Given the description of an element on the screen output the (x, y) to click on. 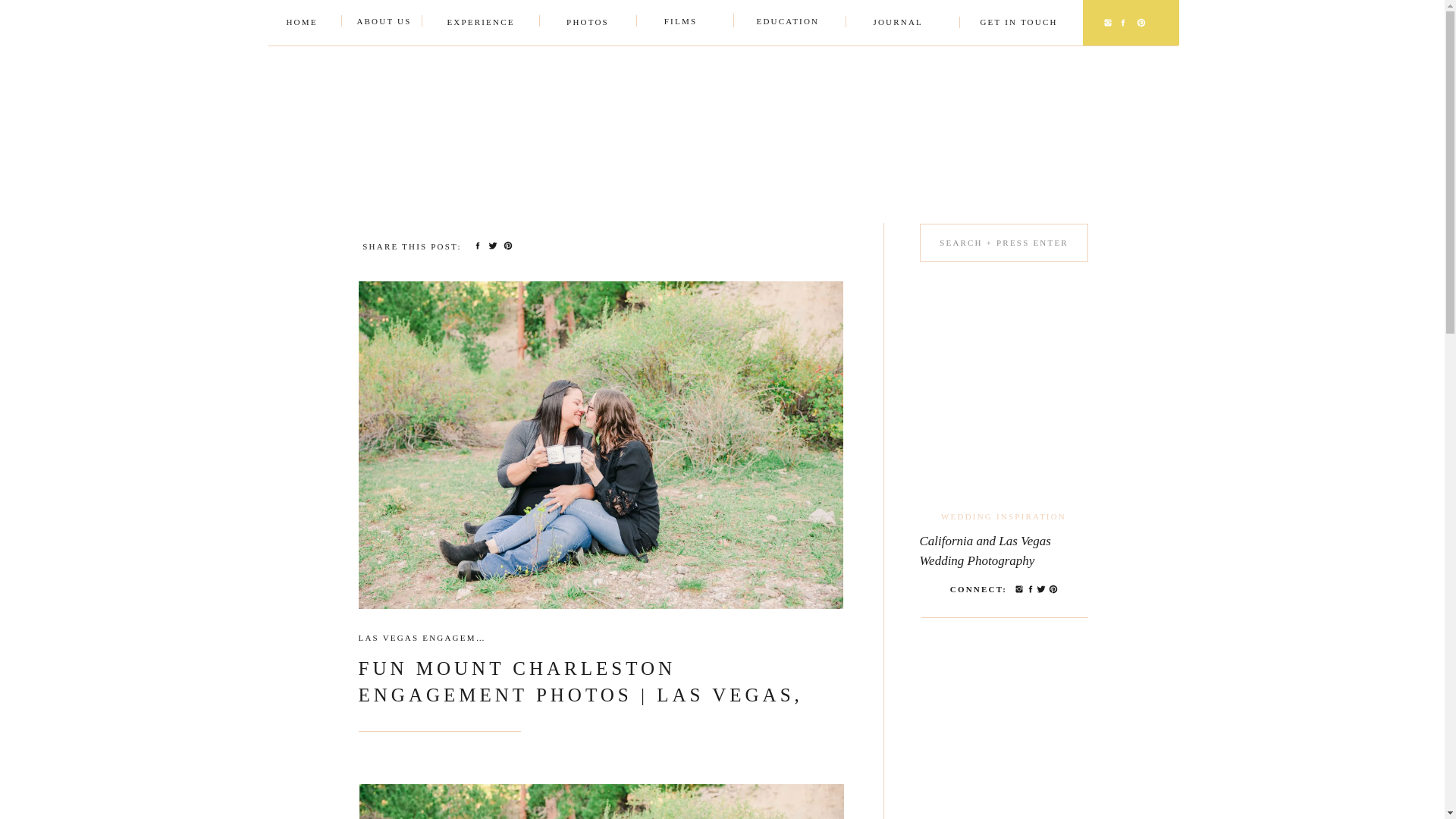
EDUCATION (781, 22)
HOME (301, 22)
LAS VEGAS ENGAGEMENT PHOTOS (450, 637)
GET IN TOUCH (1017, 22)
JOURNAL (897, 22)
ABOUT US (383, 22)
FILMS (680, 22)
EXPERIENCE (480, 22)
PHOTOS (587, 22)
